Given the description of an element on the screen output the (x, y) to click on. 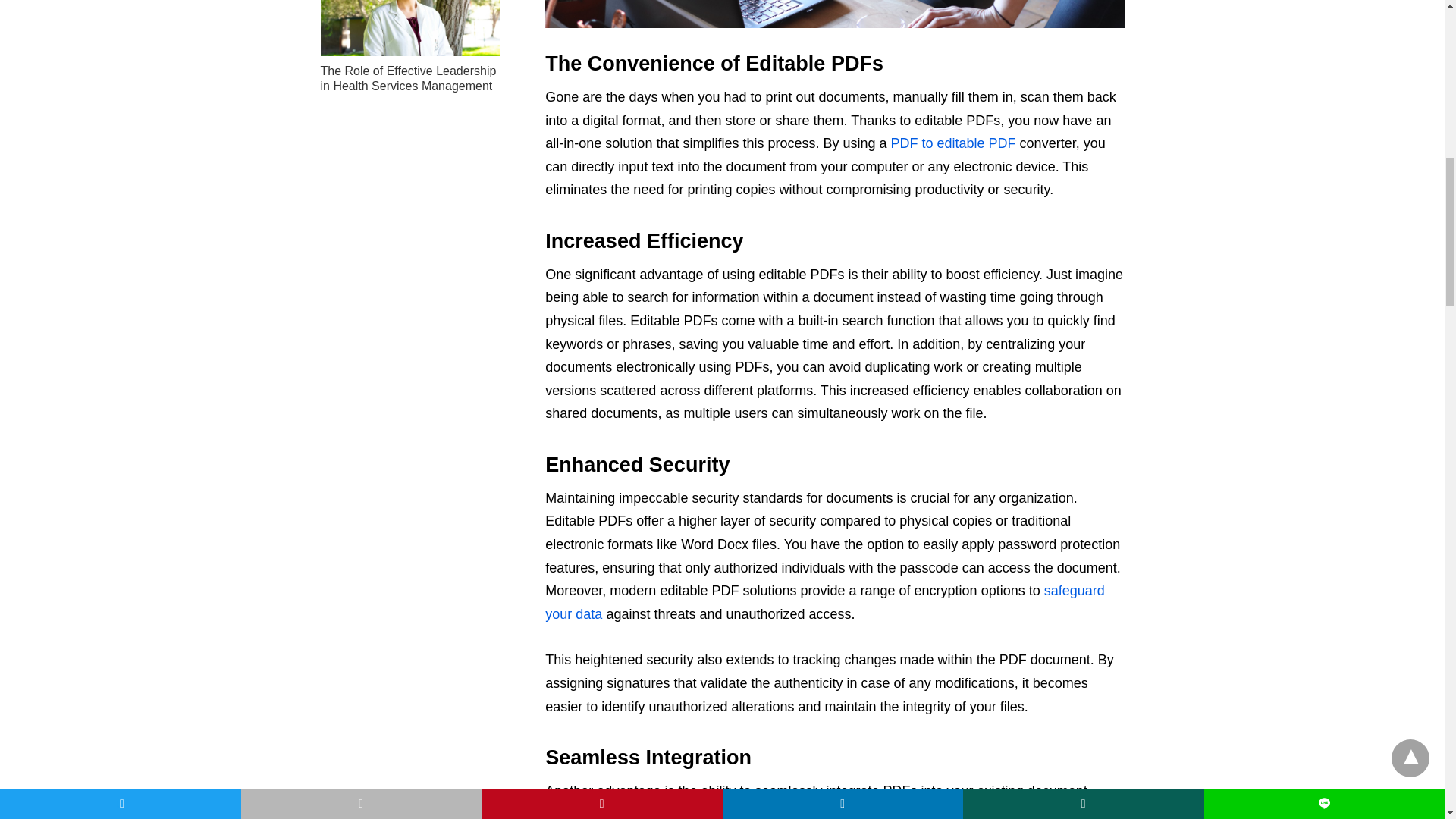
safeguard your data (823, 602)
PDF to editable PDF (953, 142)
